Given the description of an element on the screen output the (x, y) to click on. 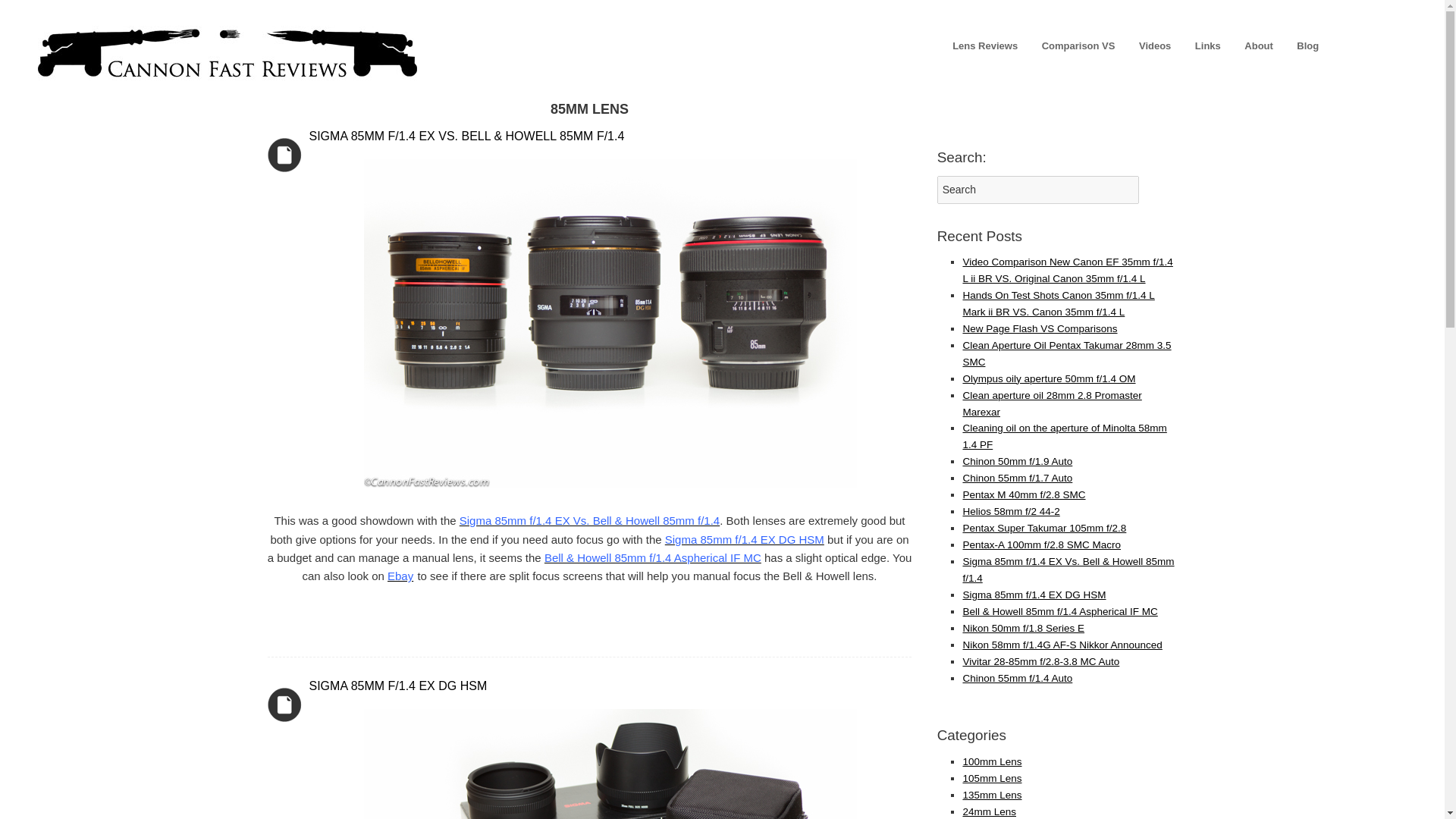
Search (1038, 189)
Comparison VS (1077, 45)
Lens Reviews (984, 45)
Videos (1154, 45)
